Given the description of an element on the screen output the (x, y) to click on. 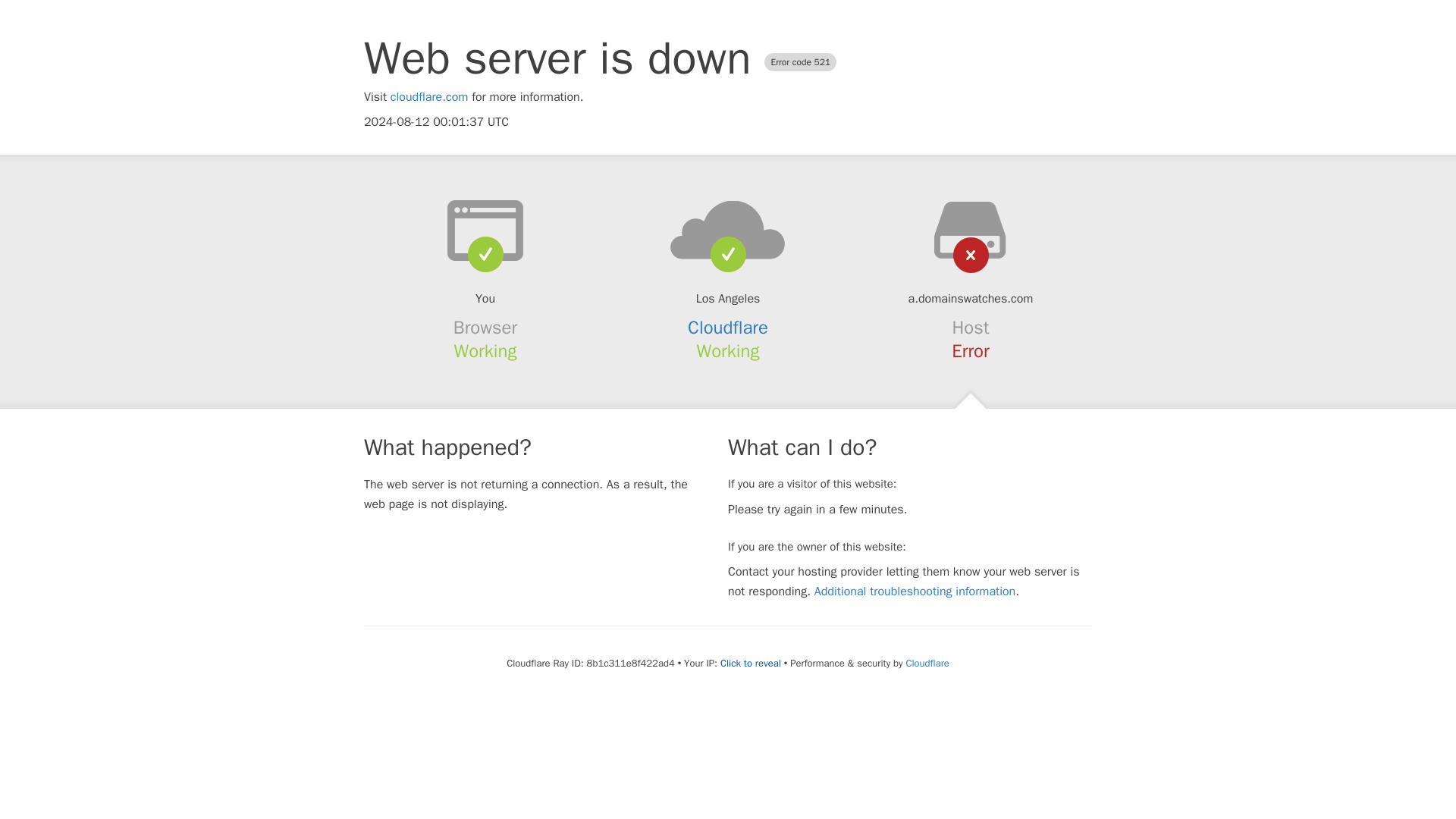
Cloudflare (727, 327)
Click to reveal (750, 663)
Additional troubleshooting information (913, 590)
cloudflare.com (429, 96)
Cloudflare (927, 662)
